Given the description of an element on the screen output the (x, y) to click on. 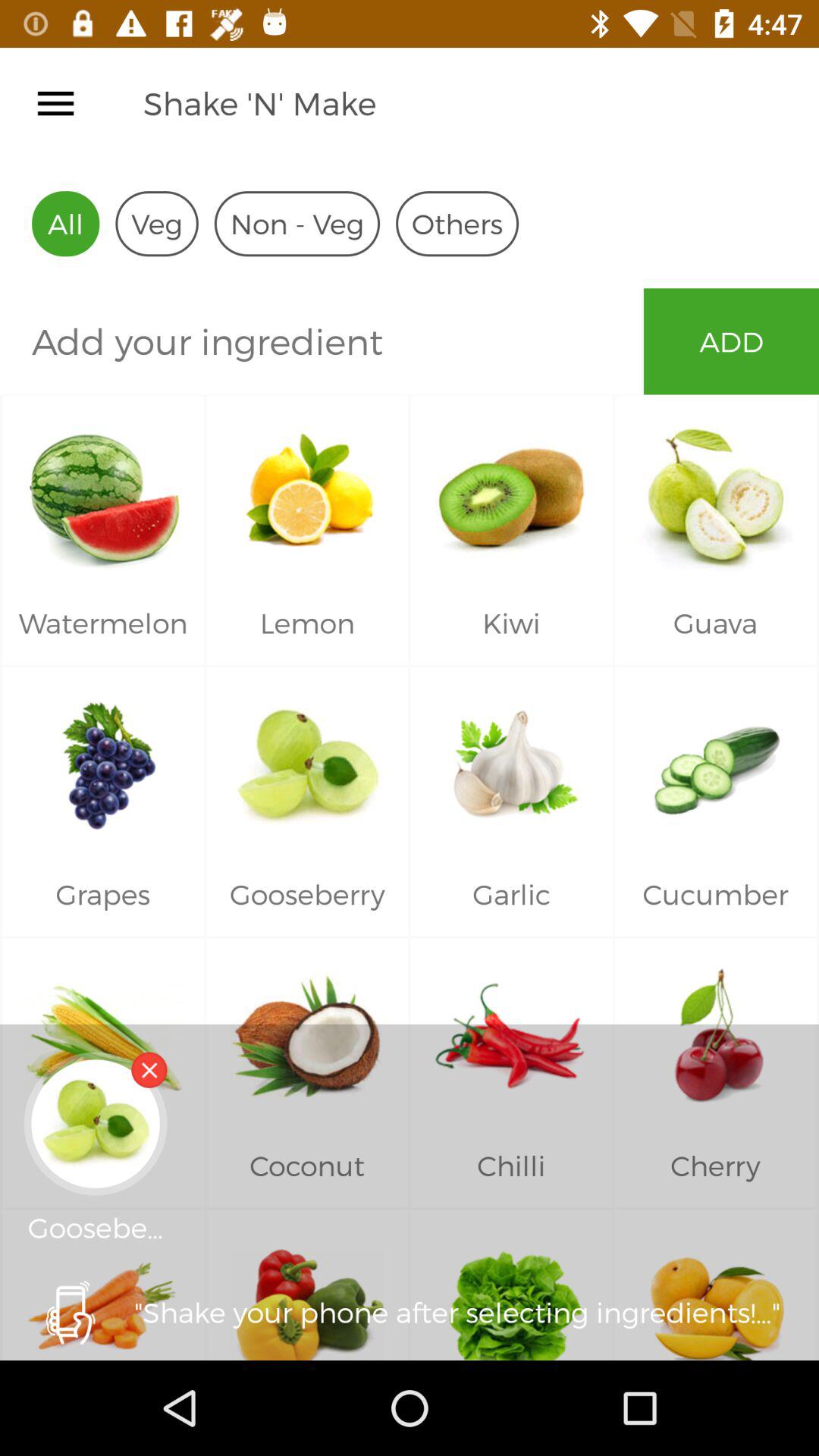
close option (149, 1069)
